Given the description of an element on the screen output the (x, y) to click on. 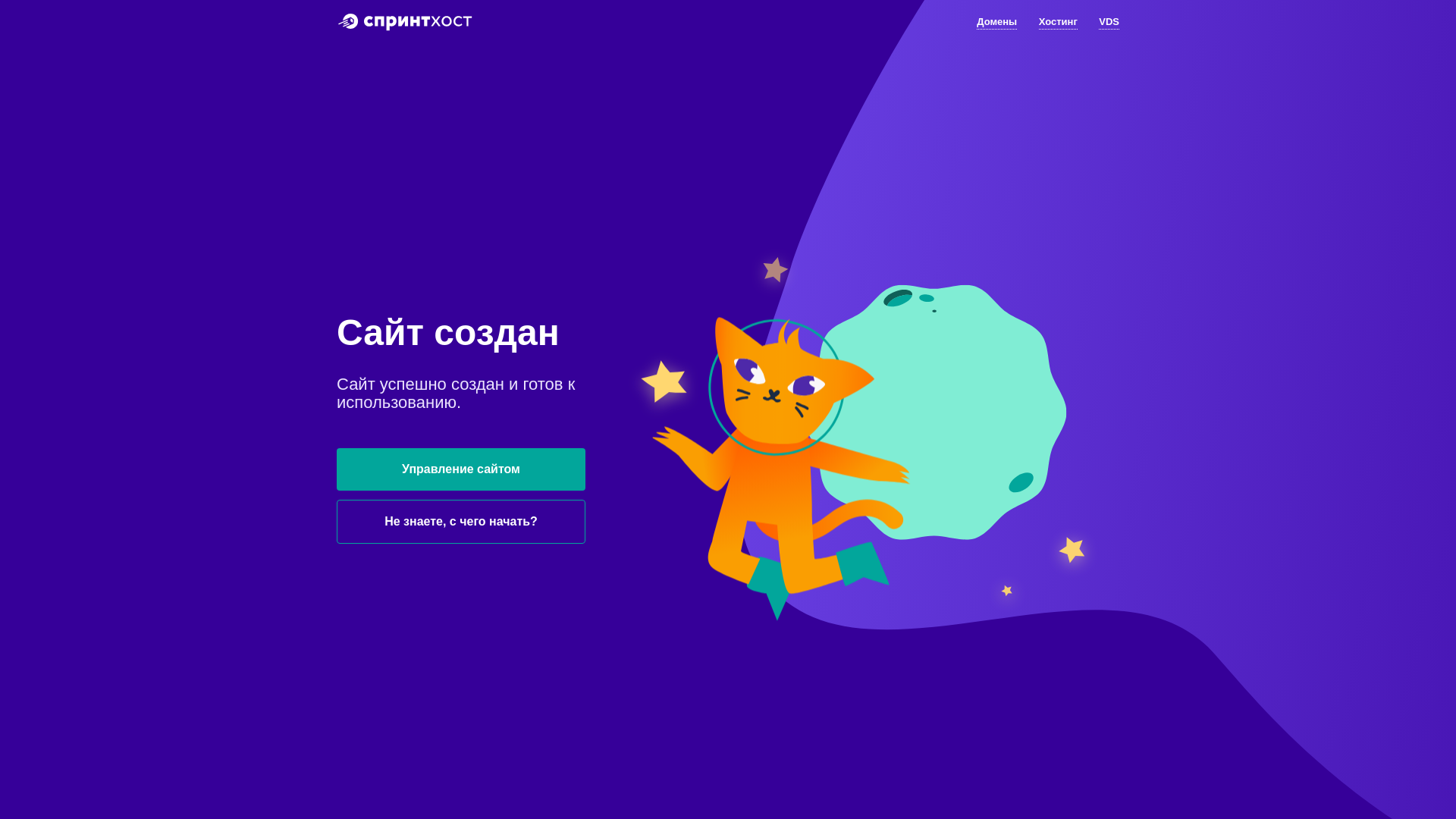
VDS Element type: text (1108, 22)
